Given the description of an element on the screen output the (x, y) to click on. 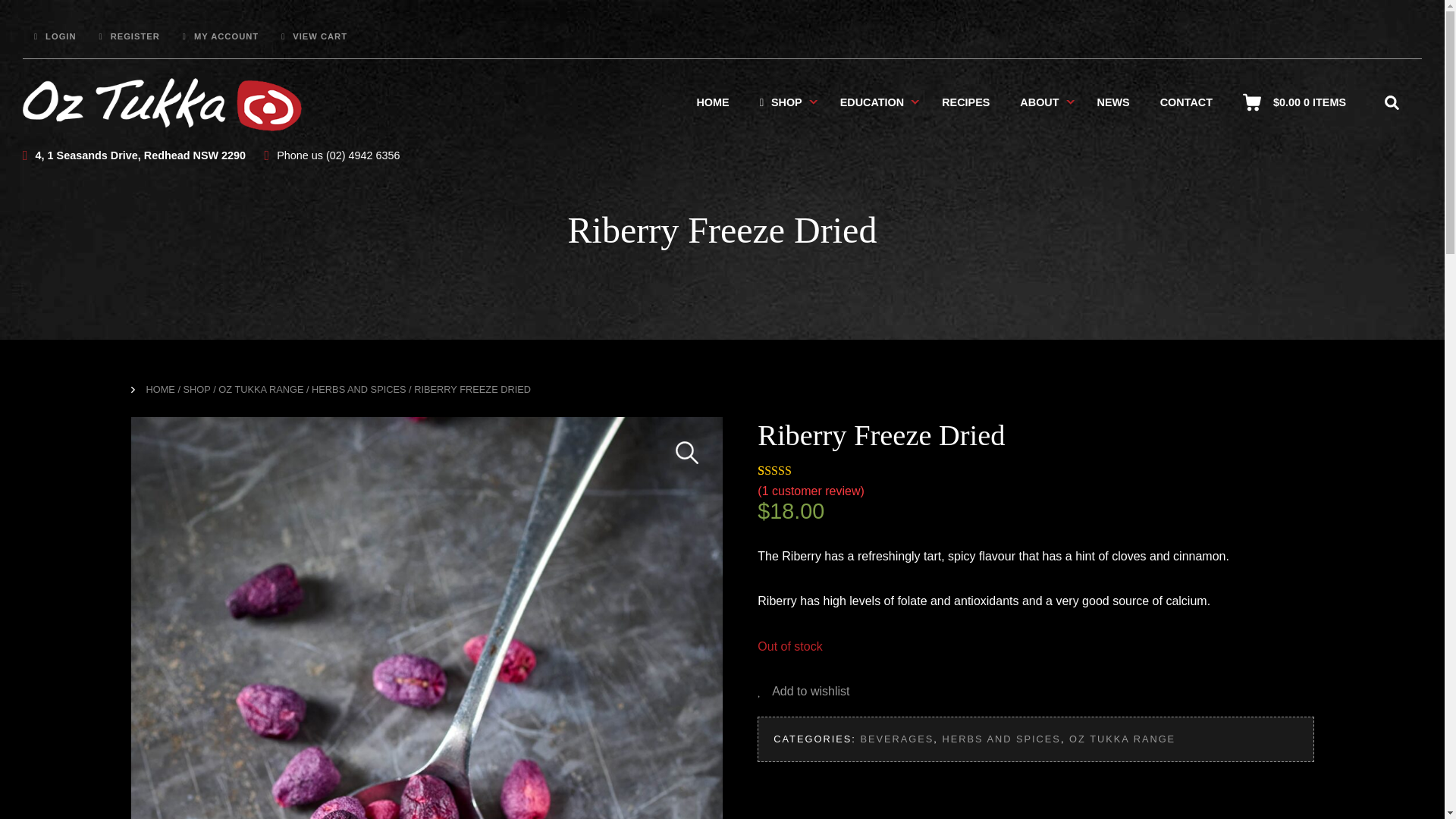
View your shopping cart (1309, 101)
VIEW CART (314, 36)
MY ACCOUNT (221, 36)
LOGIN (55, 36)
REGISTER (129, 36)
4, 1 Seasands Drive, Redhead NSW 2290 (134, 155)
search (1390, 101)
SHOP (780, 101)
HOME (712, 101)
